Given the description of an element on the screen output the (x, y) to click on. 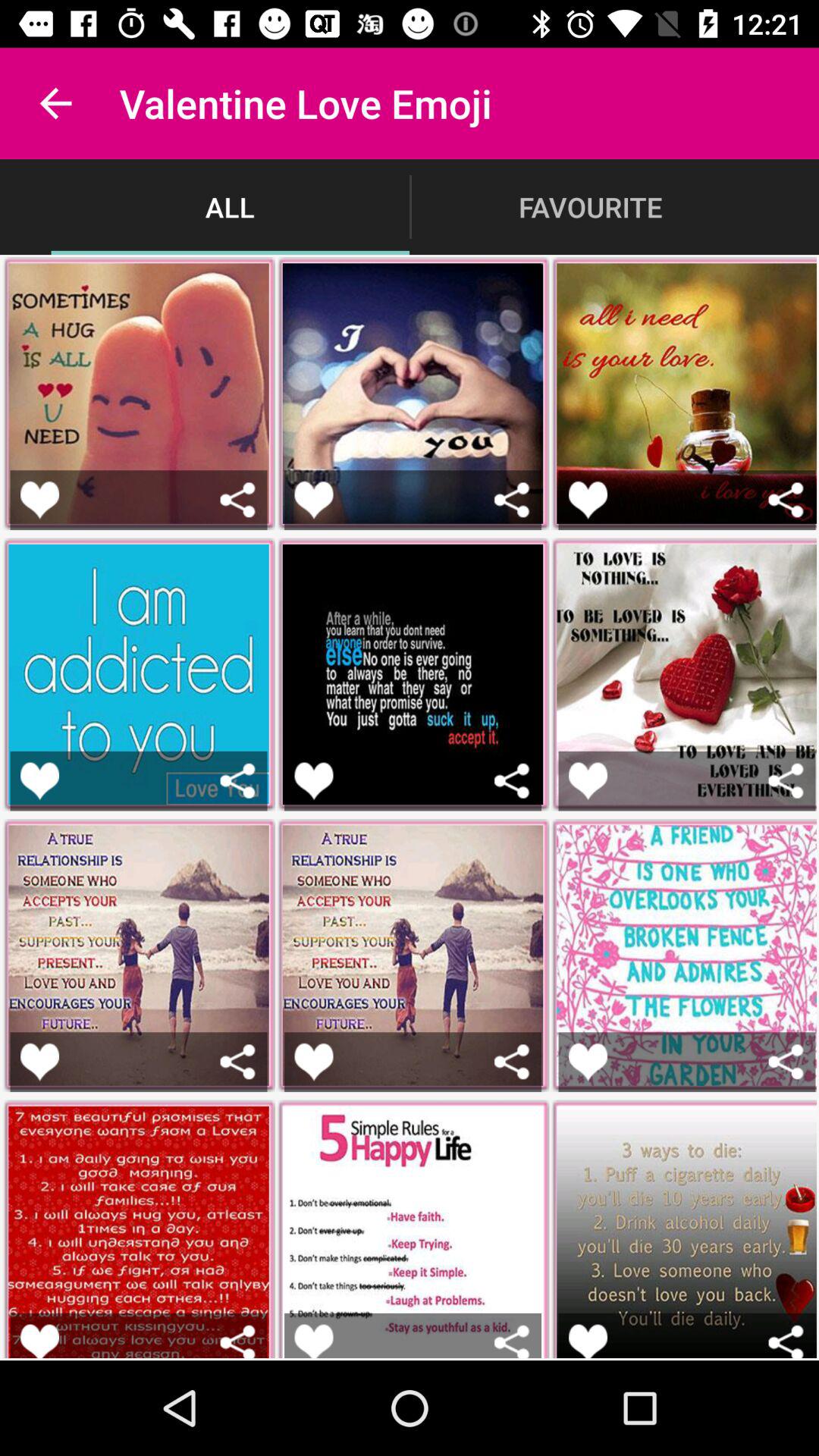
select like (39, 1061)
